Given the description of an element on the screen output the (x, y) to click on. 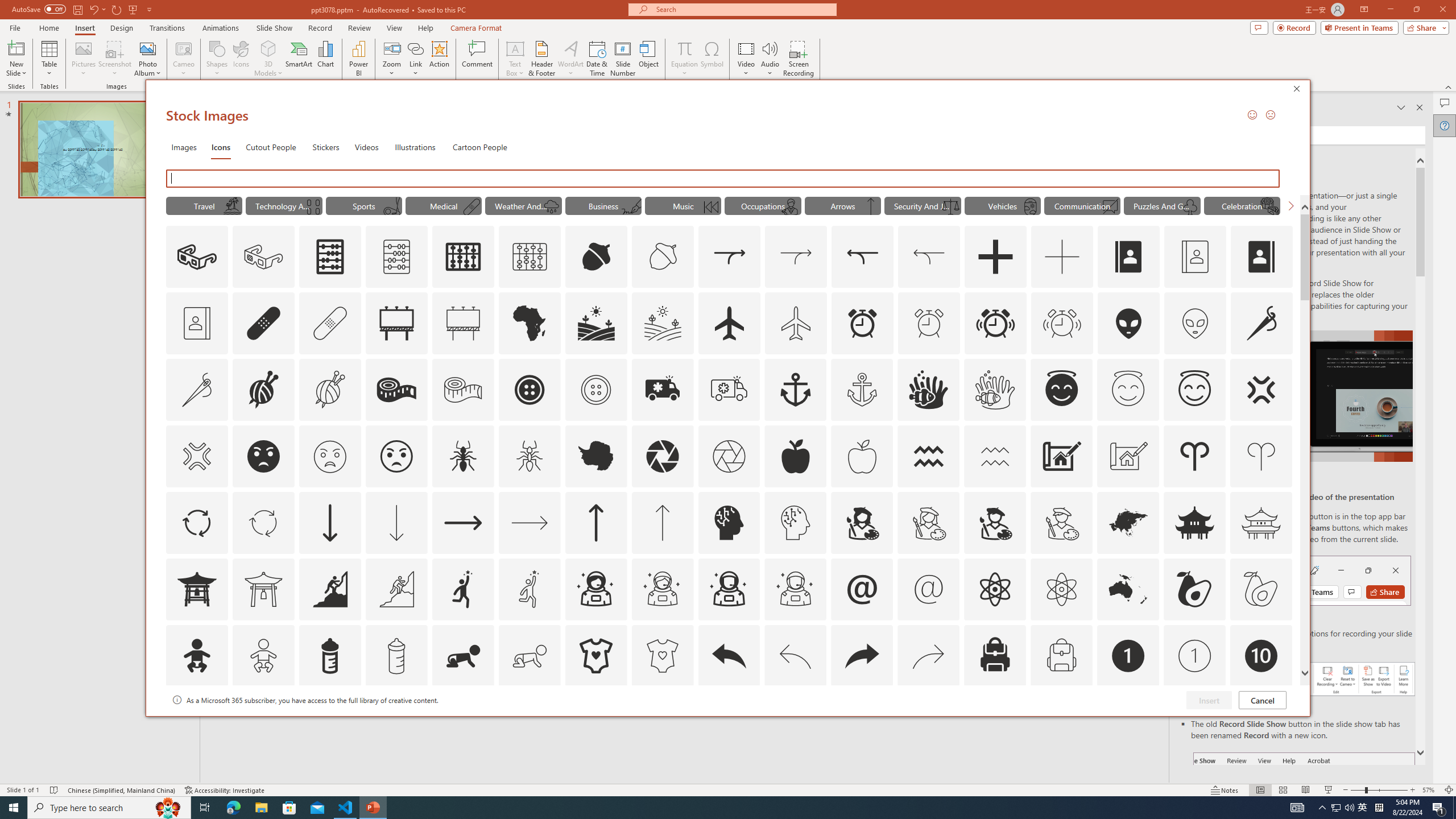
Zoom 57% (1430, 790)
AutomationID: Icons_Badge9_M (1260, 721)
Screen Recording... (798, 58)
AutomationID: Icons_AngelFace_M (1128, 389)
"Music" Icons. (682, 205)
AutomationID: Icons_Badge9 (1194, 721)
AutomationID: Icons_Badge5_M (729, 721)
AutomationID: Icons_Baby_M (263, 655)
Date & Time... (596, 58)
